Given the description of an element on the screen output the (x, y) to click on. 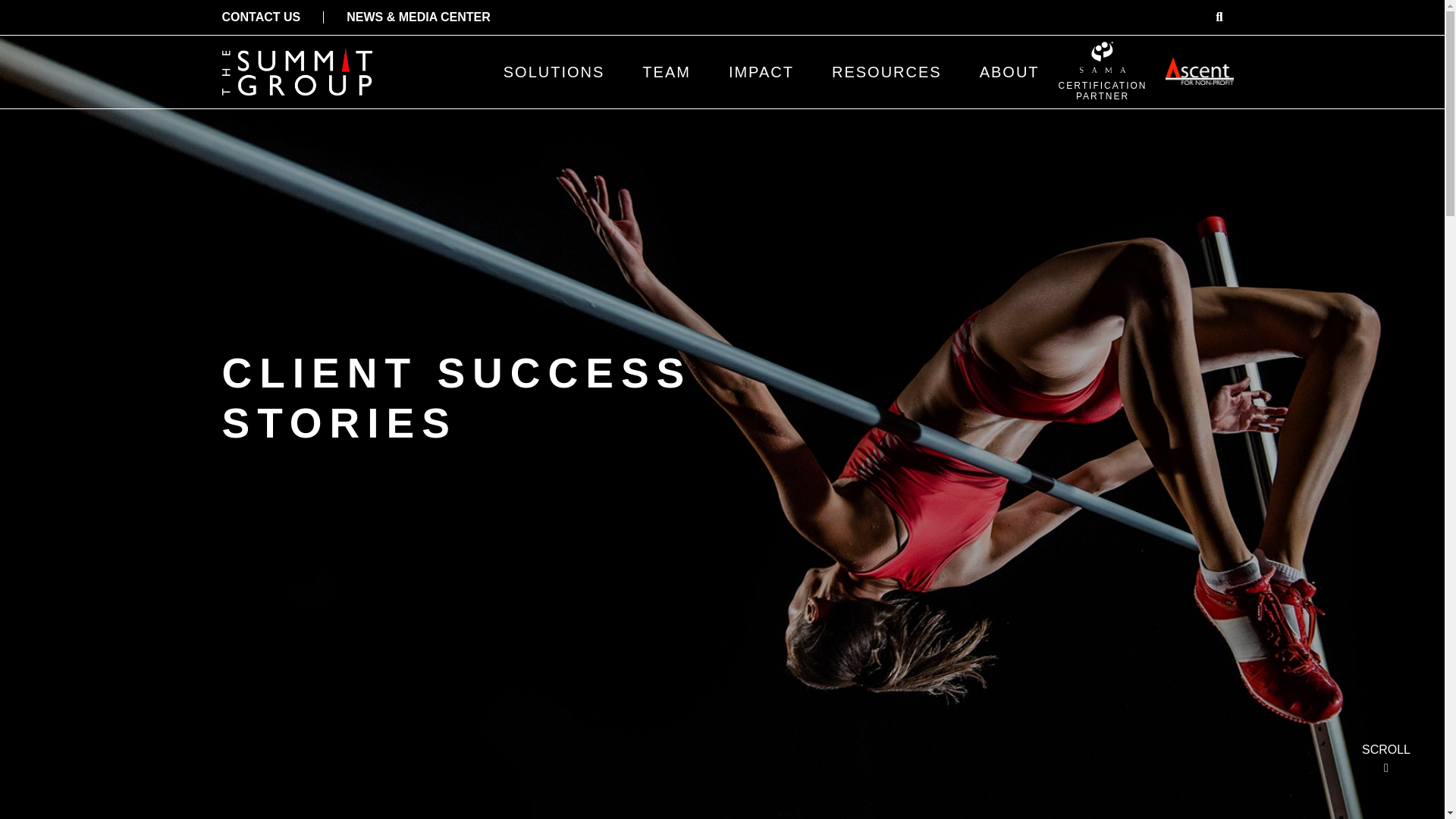
Home (296, 71)
ABOUT (1009, 72)
IMPACT (761, 72)
TEAM (666, 72)
RESOURCES (886, 72)
SOLUTIONS (554, 72)
CONTACT US (1102, 72)
